Given the description of an element on the screen output the (x, y) to click on. 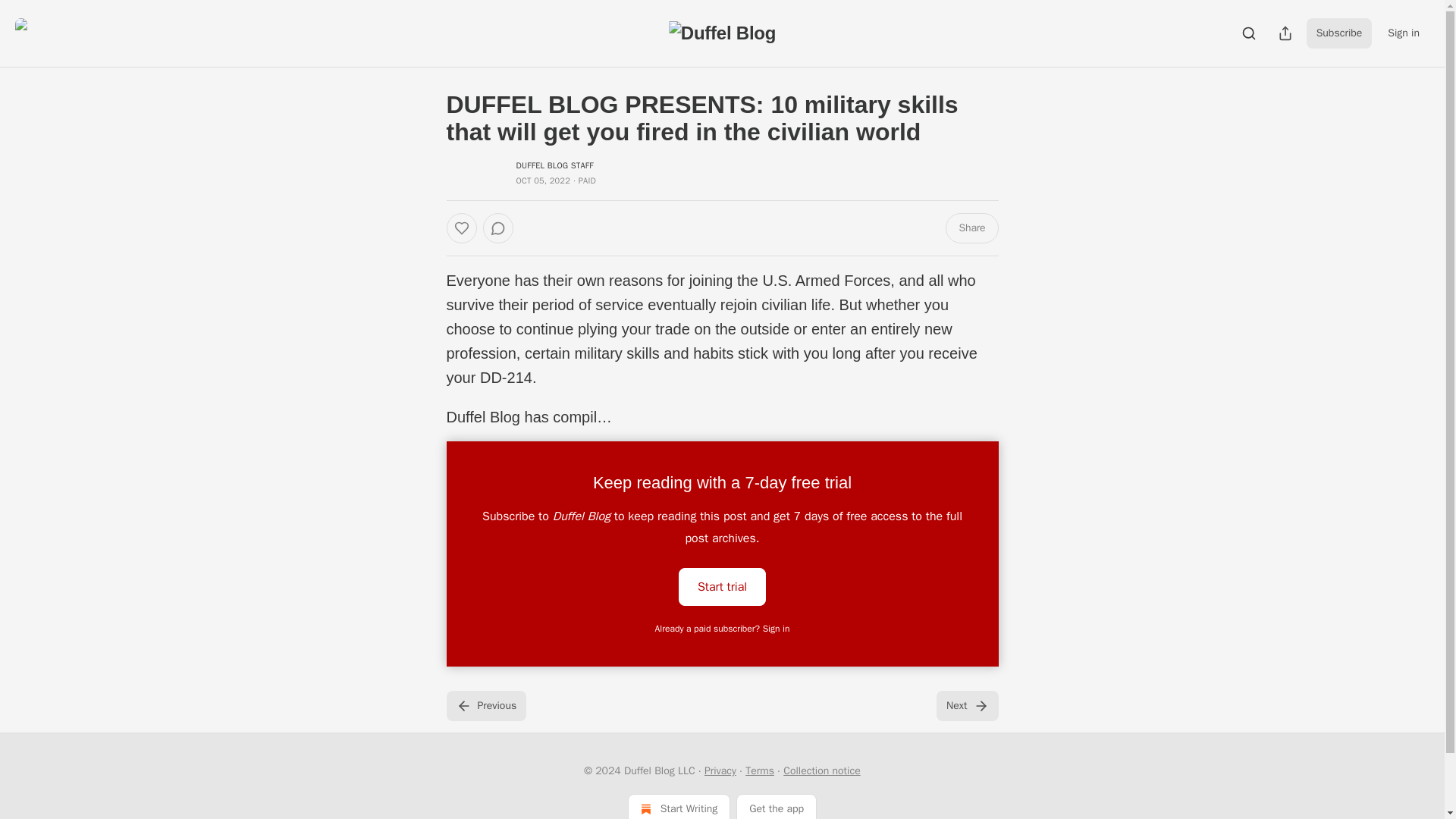
Share (970, 227)
Privacy (720, 770)
Next (966, 706)
Get the app (776, 806)
Collection notice (821, 770)
Start trial (721, 587)
Terms (759, 770)
DUFFEL BLOG STAFF (553, 164)
Previous (485, 706)
Start Writing (678, 806)
Sign in (1403, 33)
Start trial (721, 585)
Already a paid subscriber? Sign in (722, 628)
Subscribe (1339, 33)
